Given the description of an element on the screen output the (x, y) to click on. 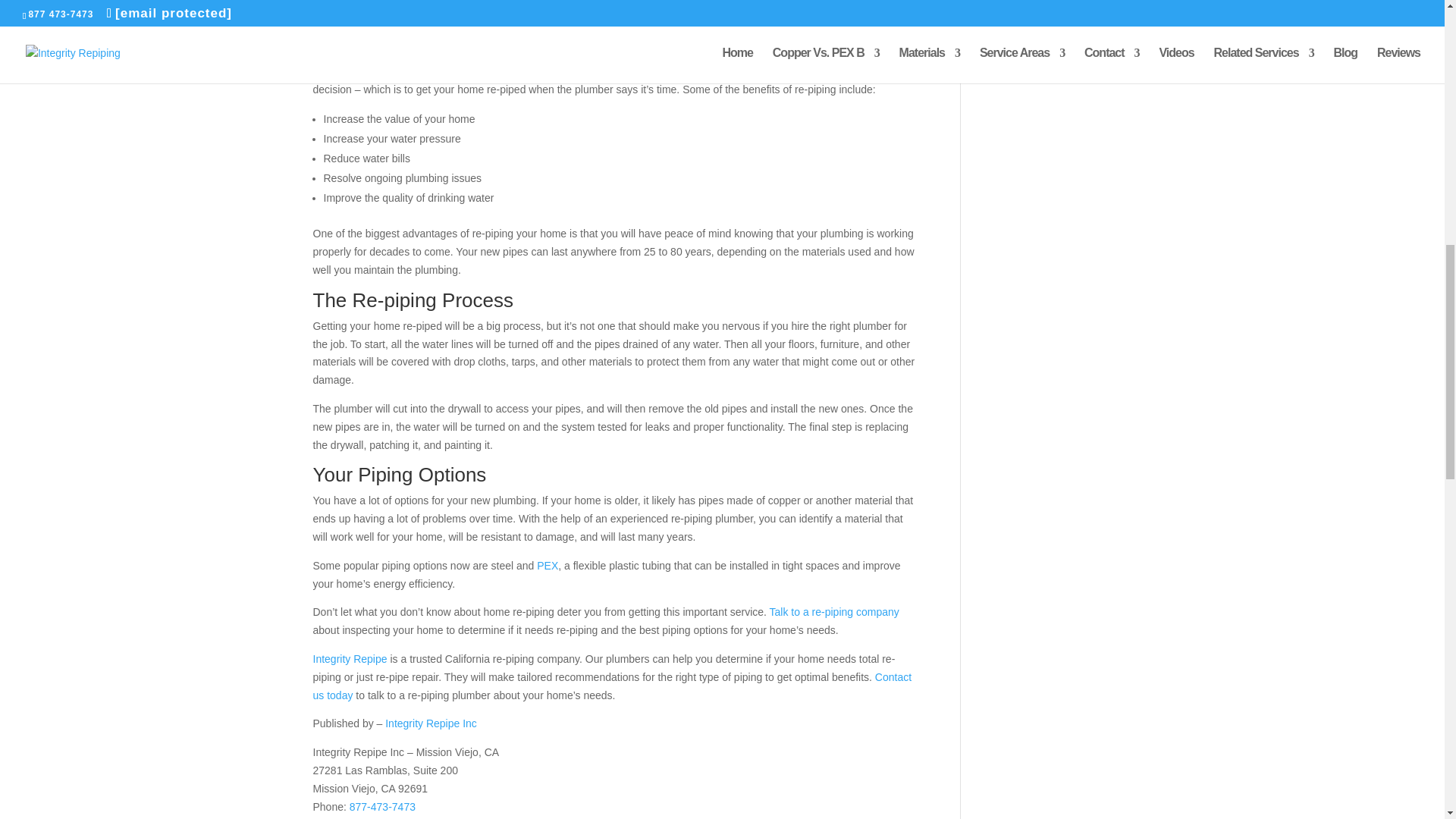
Integrity Repipe (350, 658)
Contact us today (612, 685)
877-473-7473 (381, 806)
Integrity Repipe Inc (431, 723)
PEX (547, 565)
Talk to a re-piping company (834, 612)
